Given the description of an element on the screen output the (x, y) to click on. 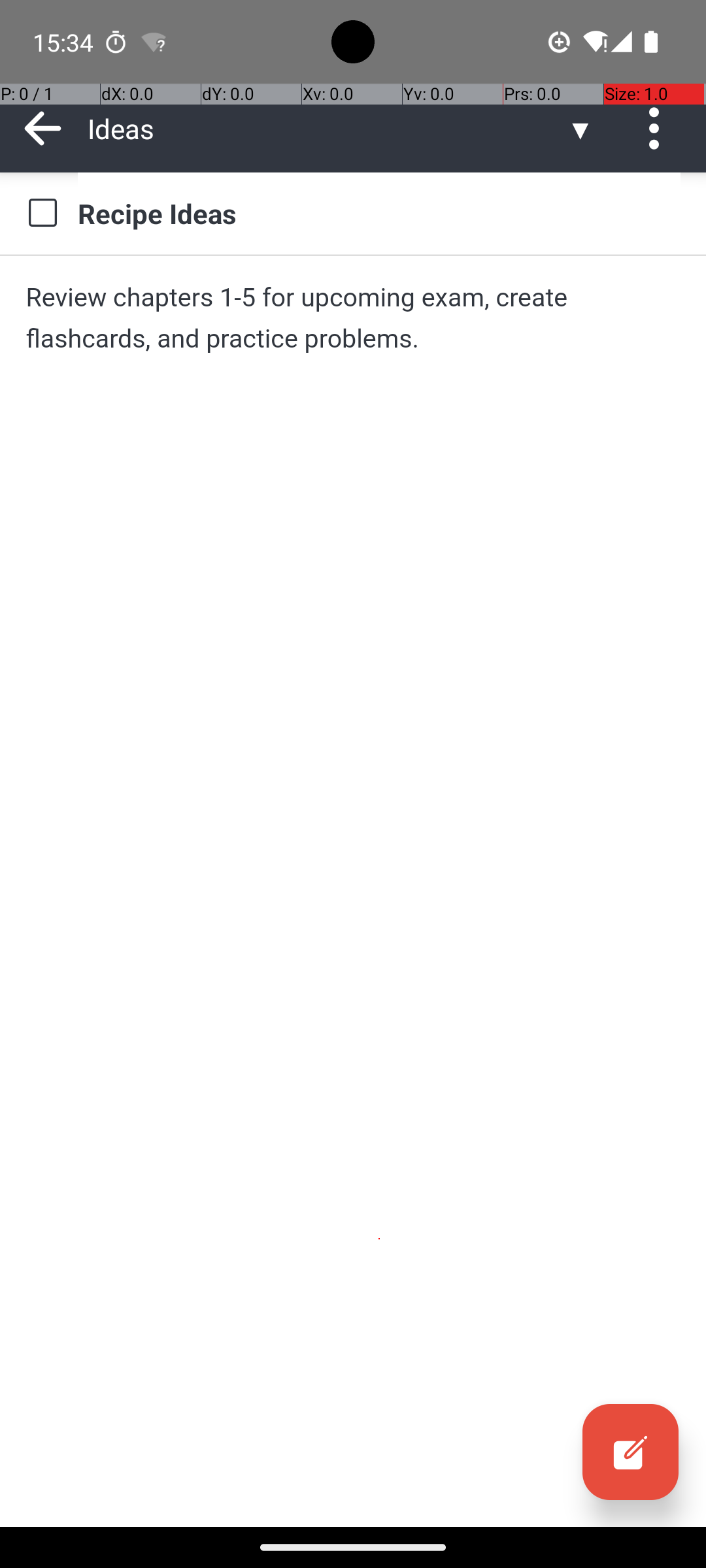
Recipe Ideas Element type: android.widget.EditText (378, 213)
Review chapters 1-5 for upcoming exam, create flashcards, and practice problems. Element type: android.widget.TextView (352, 317)
